Given the description of an element on the screen output the (x, y) to click on. 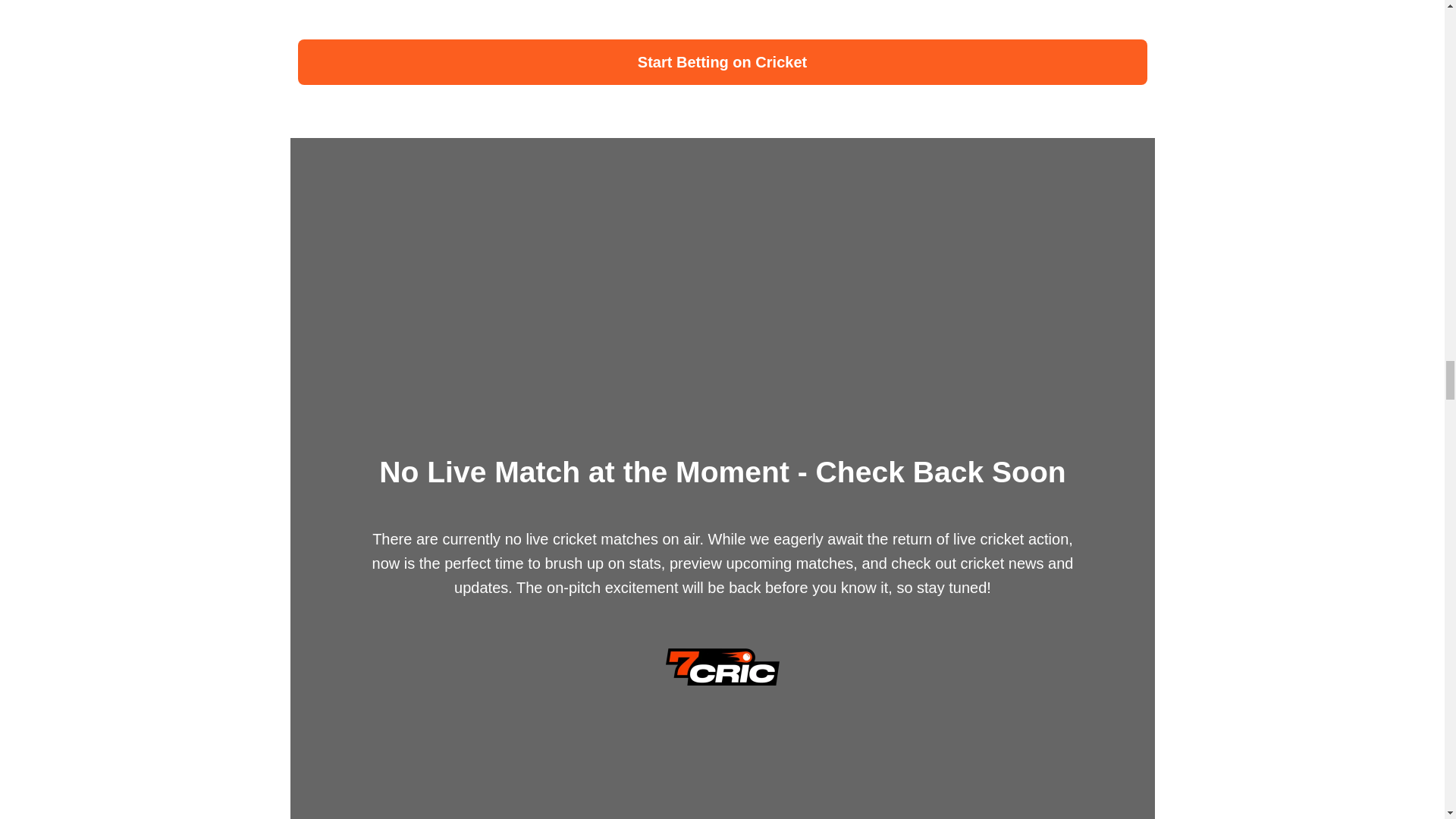
Start Betting on Cricket (722, 62)
